Given the description of an element on the screen output the (x, y) to click on. 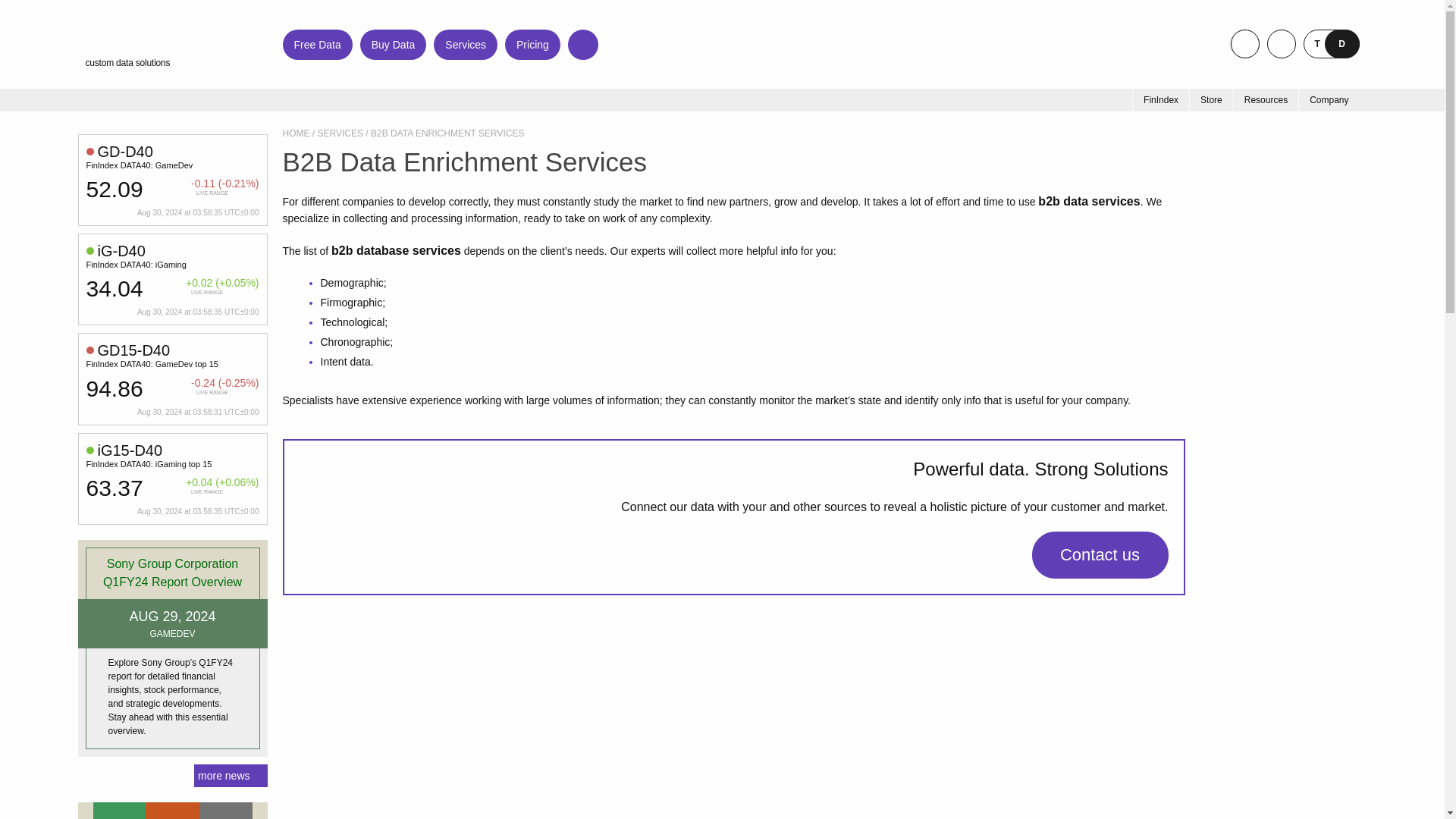
more news (229, 775)
SERVICES (339, 132)
Contact us (1098, 554)
HOME (295, 132)
custom data solutions (159, 44)
Free Data (317, 43)
Services (465, 43)
Buy Data (392, 43)
Pricing (532, 43)
